Given the description of an element on the screen output the (x, y) to click on. 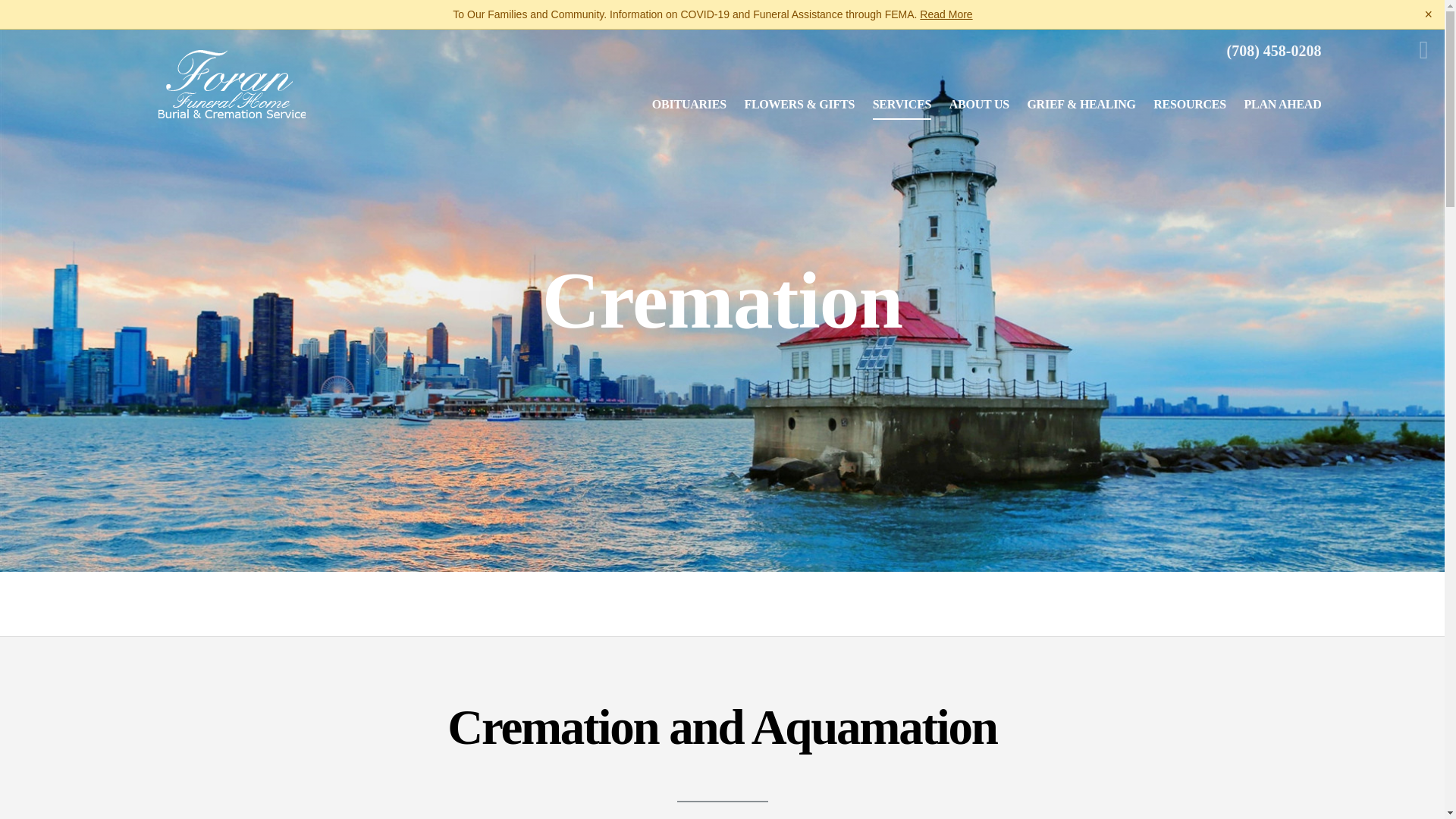
Read More (946, 14)
PLAN AHEAD (1281, 103)
RESOURCES (1189, 103)
OBITUARIES (689, 103)
ABOUT US (979, 103)
SERVICES (901, 103)
Skip to content (30, 15)
